Given the description of an element on the screen output the (x, y) to click on. 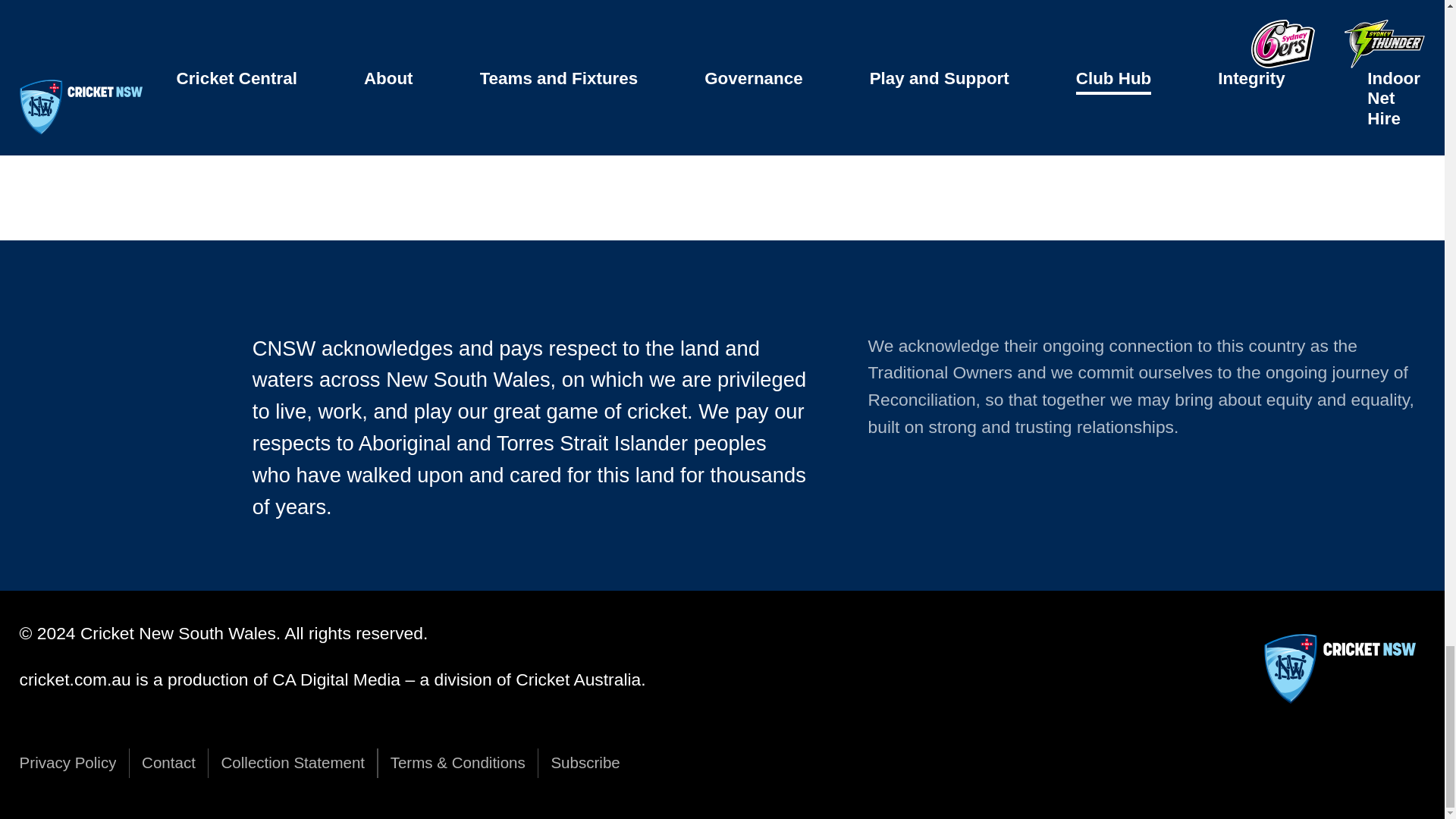
Gabba Sporting Products Official Partner (721, 114)
Kookaburra Official Partner (202, 9)
Gage Roads Official Partner (721, 9)
Ronald McDonald House Official Partner (981, 9)
Toyota Official Partner (462, 114)
Masuri Official Partner (1241, 9)
Brokenwood Official Partner (462, 9)
PCS Official Partner (202, 114)
